Given the description of an element on the screen output the (x, y) to click on. 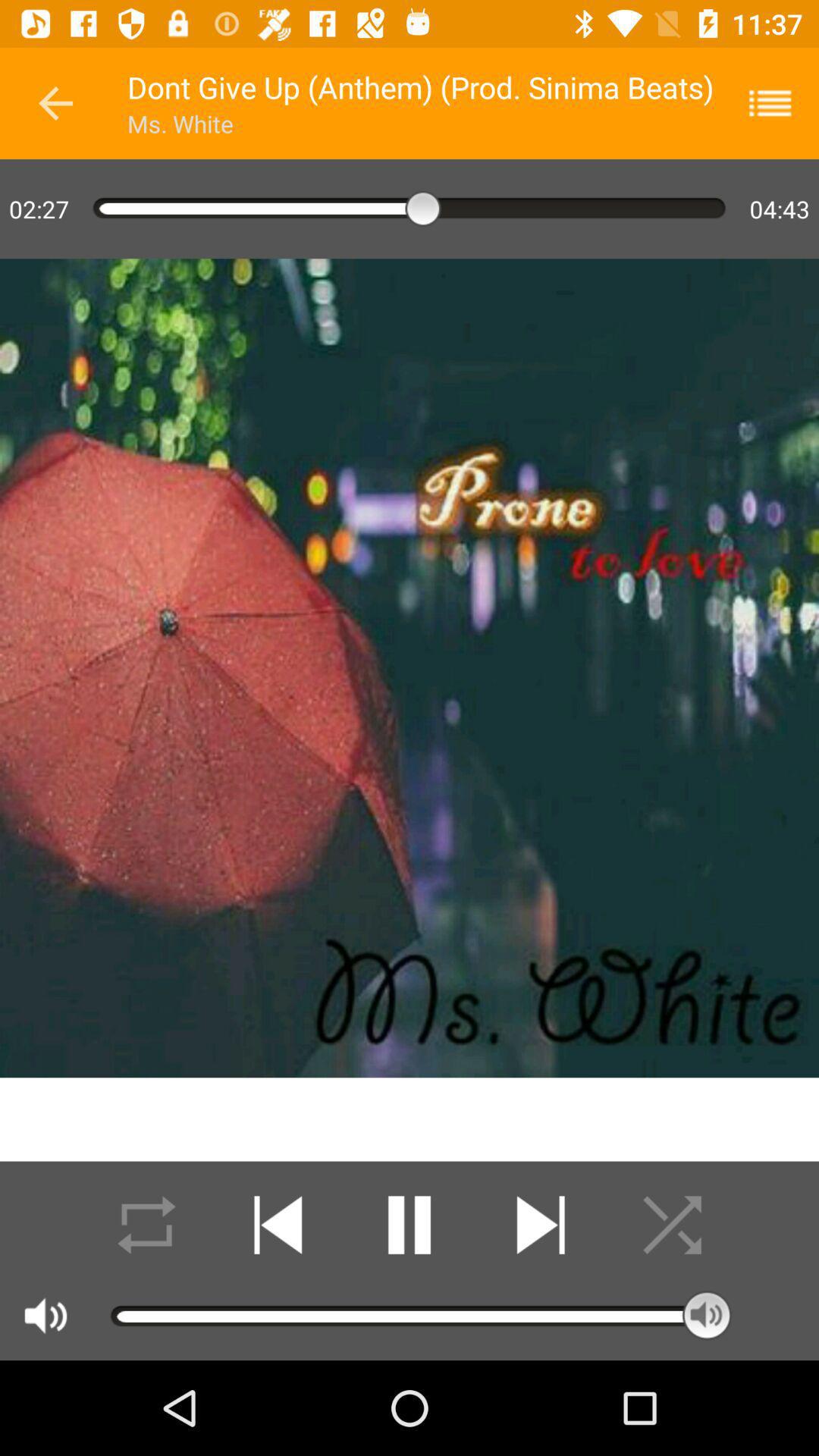
choose the icon to the left of the dont give up item (55, 103)
